Given the description of an element on the screen output the (x, y) to click on. 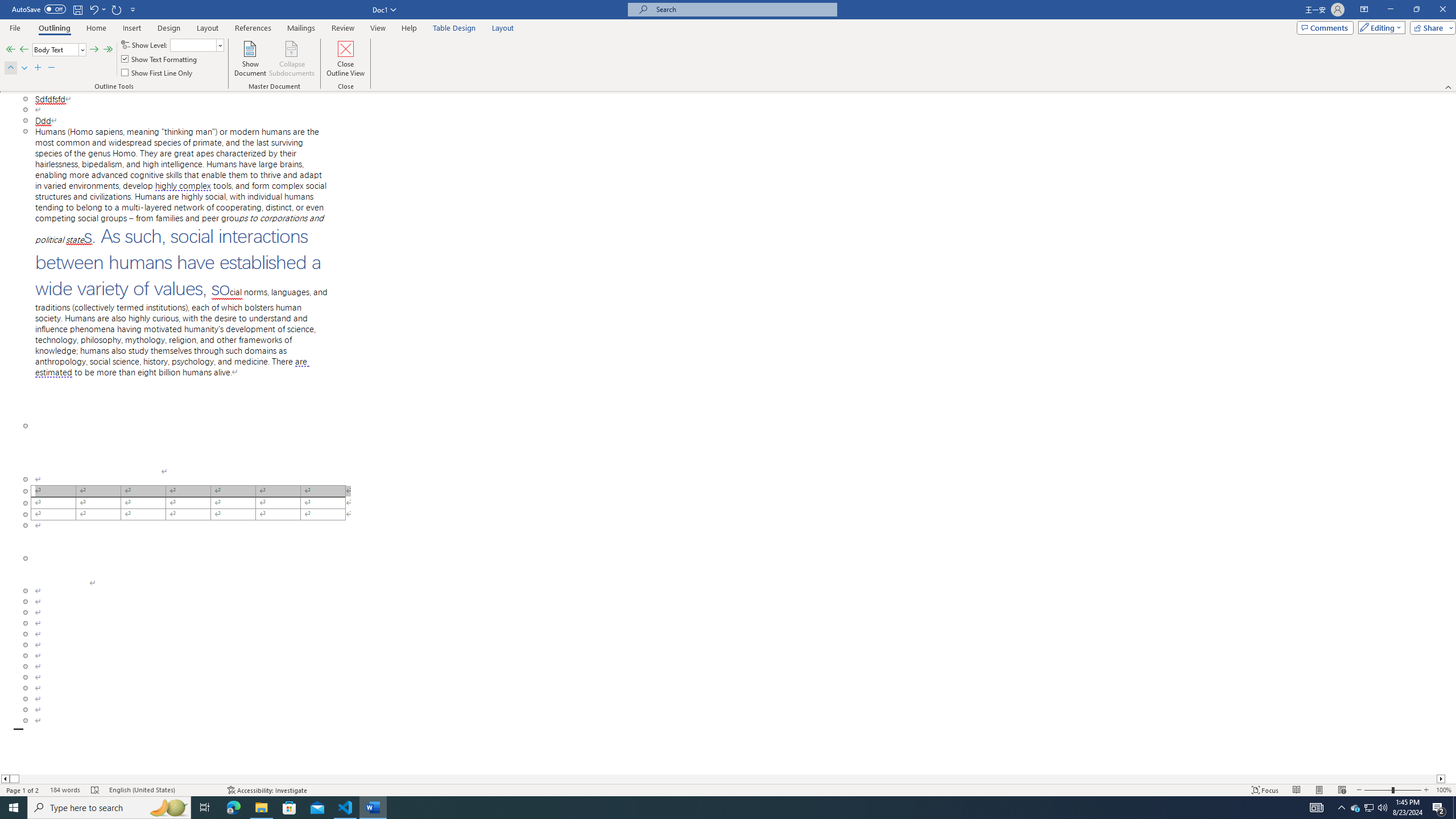
Open (219, 44)
Promote (23, 49)
Zoom Out (1377, 790)
Zoom (1392, 790)
Move Up (10, 67)
Outline Level (58, 49)
Collapse (51, 67)
Zoom 100% (1443, 790)
Layout (502, 28)
Restore Down (1416, 9)
Word Count 184 words (64, 790)
Repeat Outline Move Up (117, 9)
Undo Outline Move Up (92, 9)
Share (1430, 27)
